Given the description of an element on the screen output the (x, y) to click on. 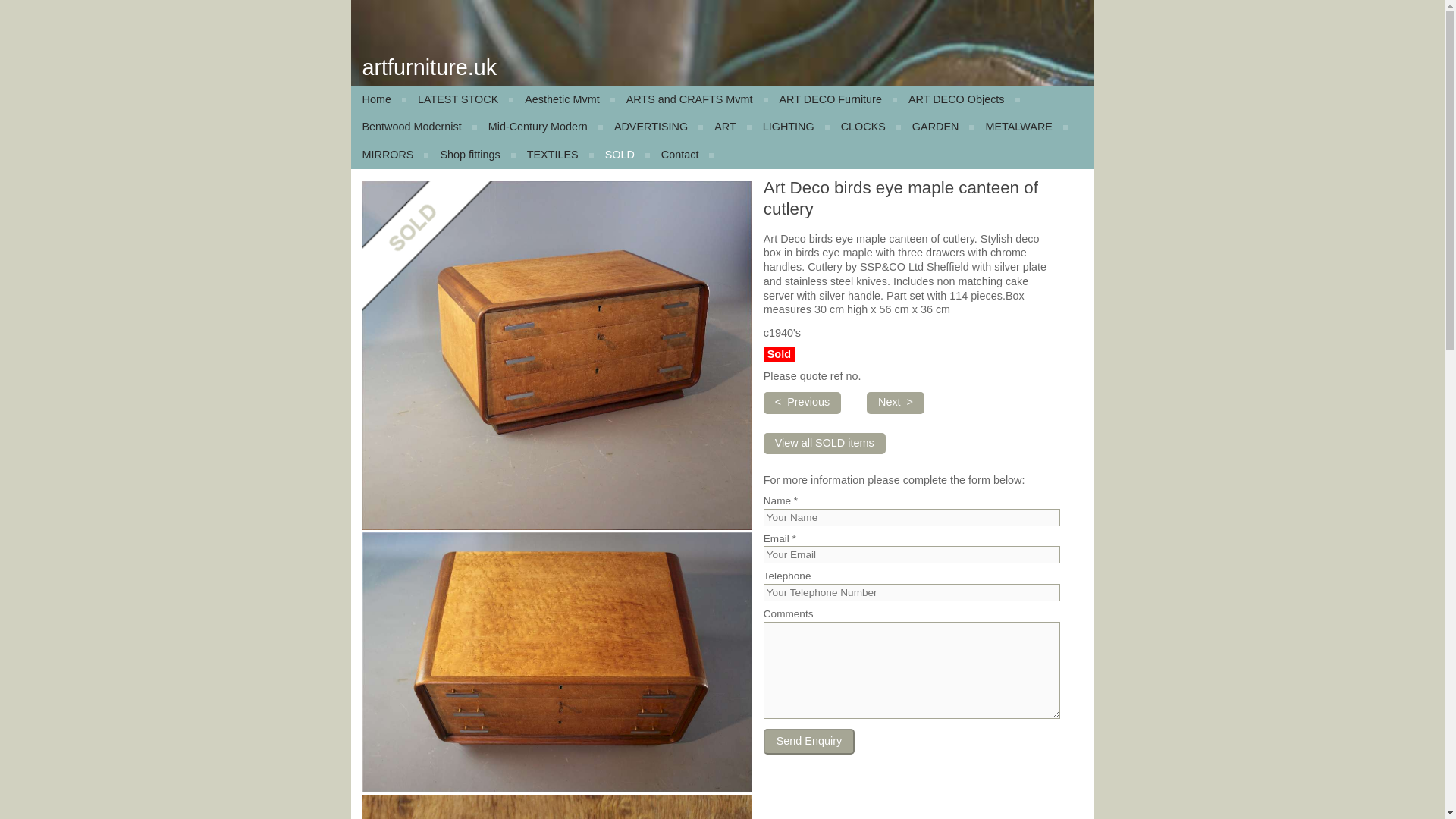
Aesthetic Mvmt (563, 99)
Mid-Century Modern (539, 126)
MIRRORS (389, 154)
ART (727, 126)
artfurniture.uk (429, 67)
METALWARE (1020, 126)
SOLD (621, 154)
LATEST STOCK (459, 99)
Send Enquiry (808, 741)
LIGHTING (790, 126)
Home (378, 99)
CLOCKS (865, 126)
Bentwood Modernist (413, 126)
ARTS and CRAFTS Mvmt (691, 99)
ADVERTISING (652, 126)
